Given the description of an element on the screen output the (x, y) to click on. 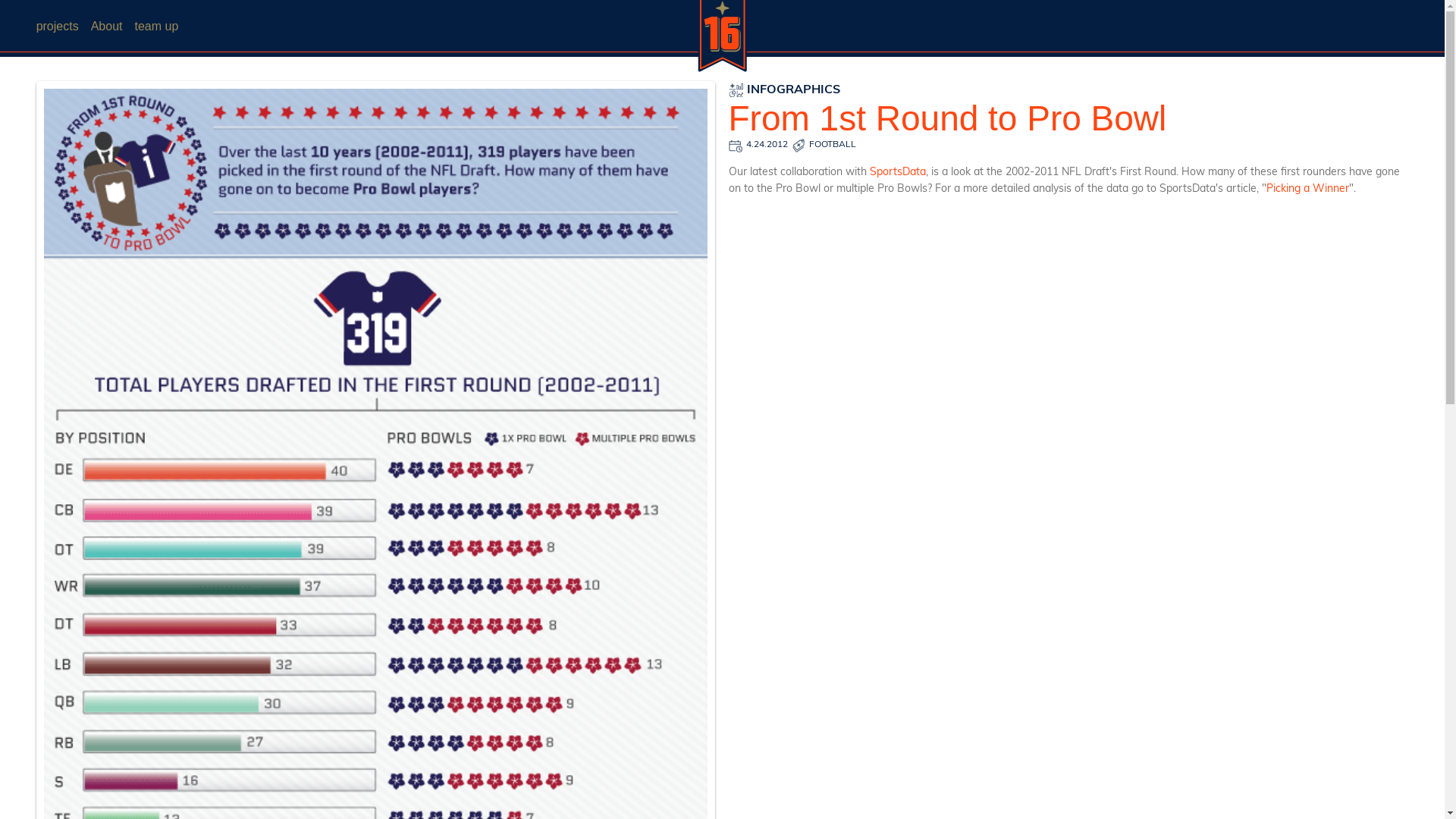
team up Element type: text (162, 26)
INFOGRAPHICS Element type: text (783, 90)
SportsData Element type: text (897, 172)
Picking a Winner Element type: text (1307, 188)
FOOTBALL Element type: text (832, 145)
About Element type: text (112, 26)
